Given the description of an element on the screen output the (x, y) to click on. 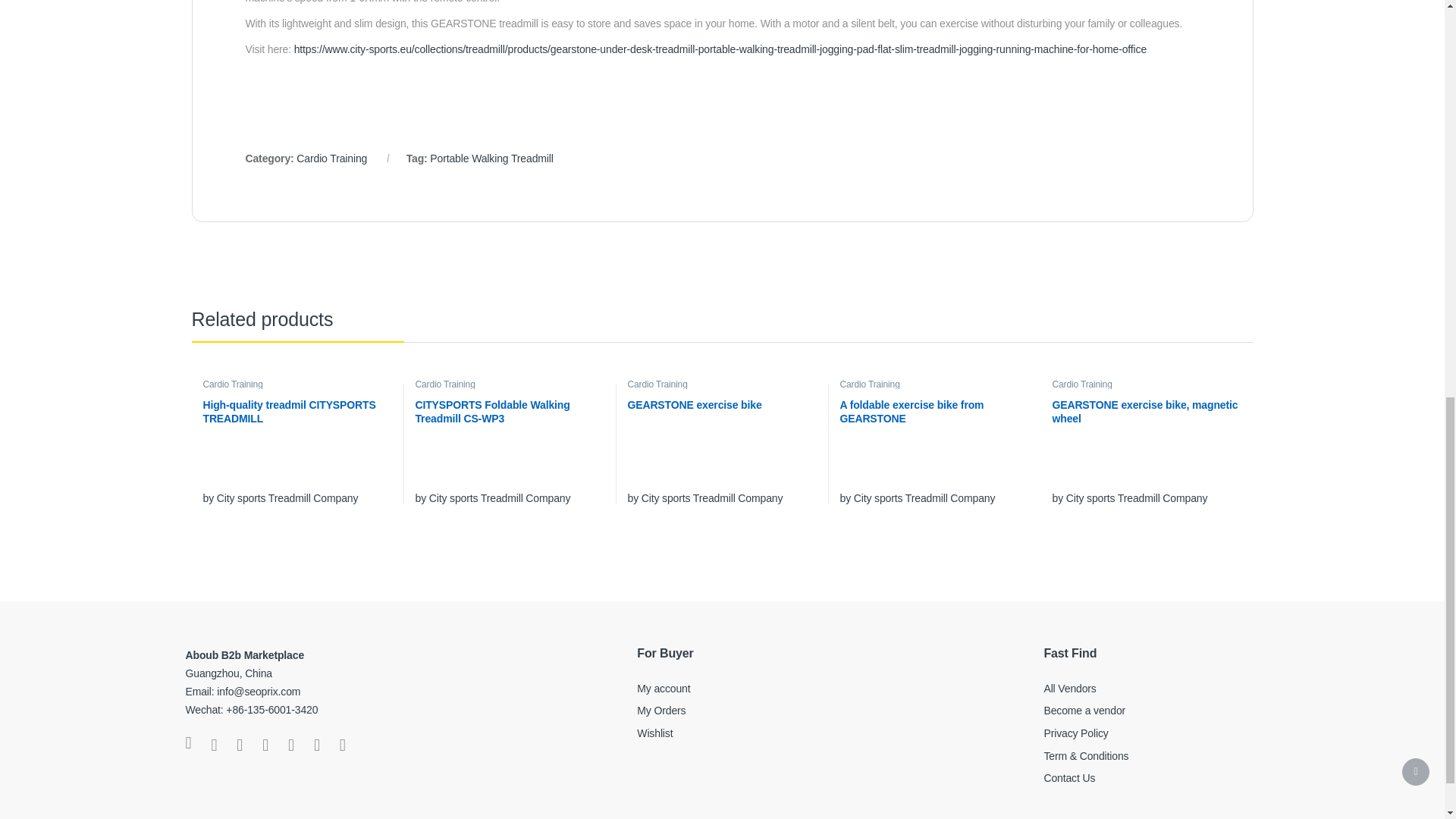
Cardio Training (331, 158)
High-quality treadmil CITYSPORTS TREADMILL (296, 423)
Cardio Training (232, 384)
Portable Walking Treadmill (491, 158)
